Given the description of an element on the screen output the (x, y) to click on. 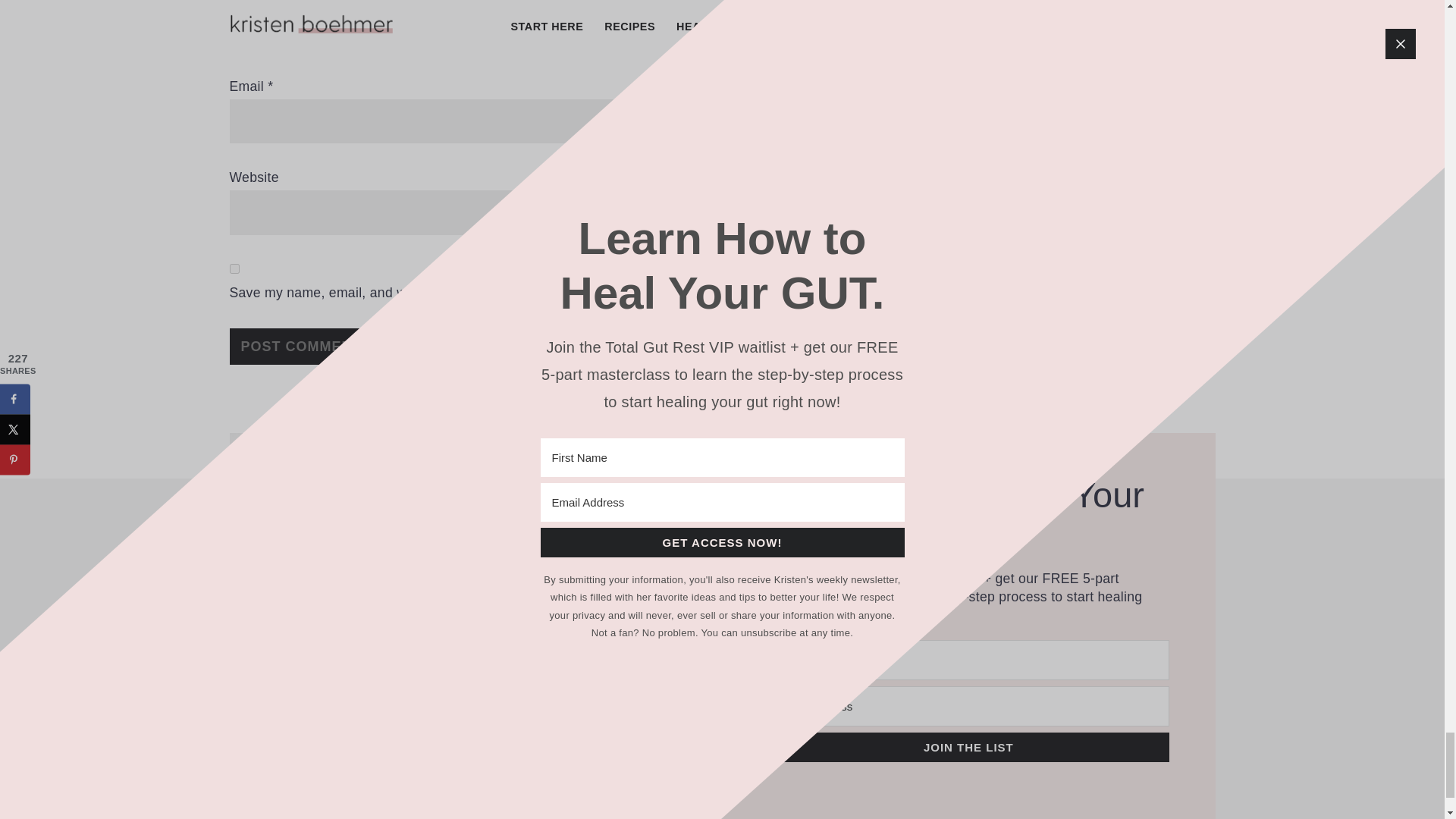
Post Comment (300, 346)
yes (233, 268)
